Given the description of an element on the screen output the (x, y) to click on. 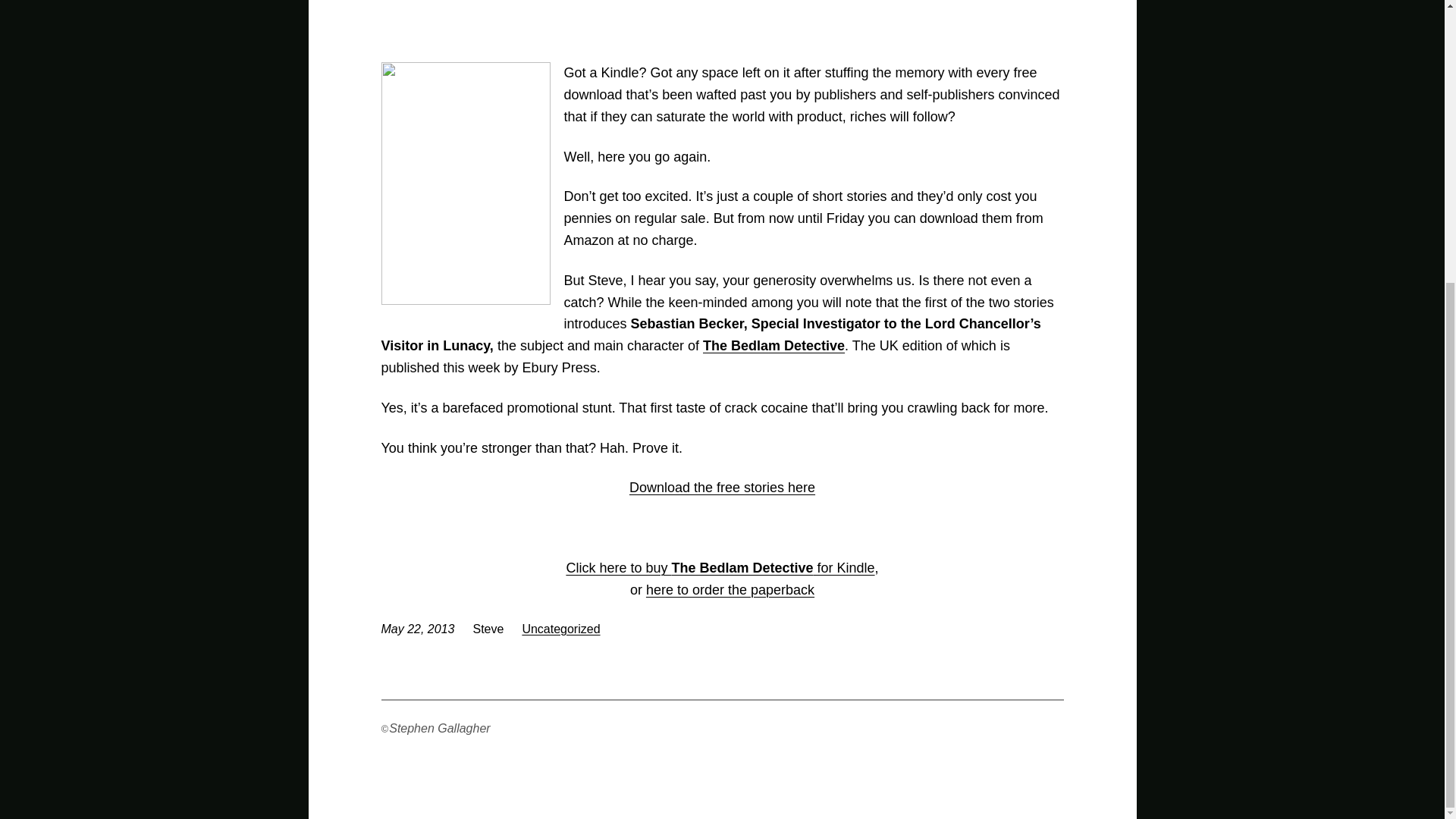
Click here to buy The Bedlam Detective for Kindle (720, 567)
The Bedlam Detective (773, 345)
Download the free stories here (721, 487)
here to order the paperback (729, 589)
Uncategorized (560, 628)
